Given the description of an element on the screen output the (x, y) to click on. 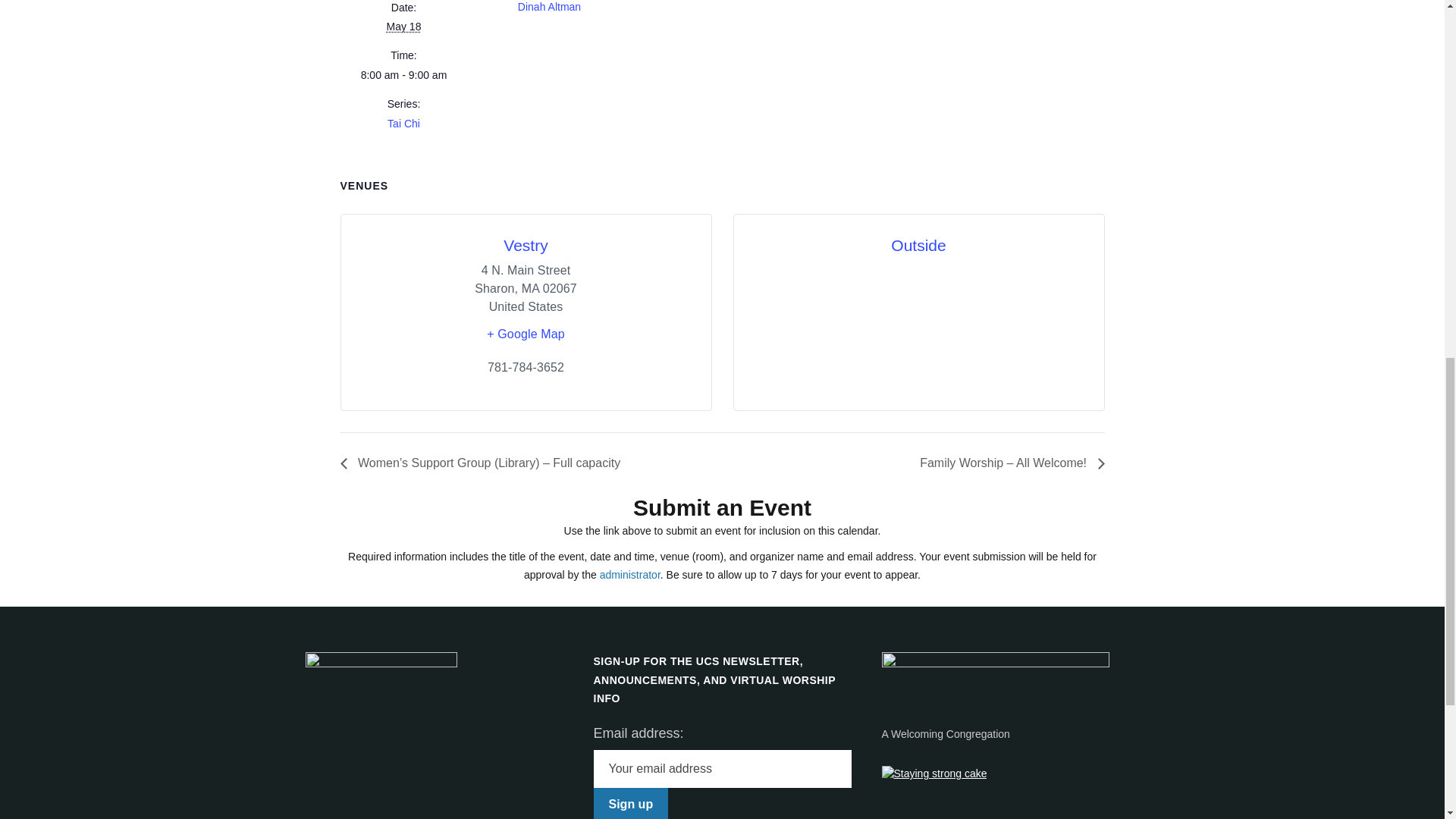
2024-05-18 (404, 26)
Outside (917, 244)
Dinah Altman (549, 6)
Sign up (630, 803)
2024-05-18 (403, 75)
Click to view a Google Map (526, 334)
Massachusetts (529, 287)
Tai Chi (403, 123)
